Given the description of an element on the screen output the (x, y) to click on. 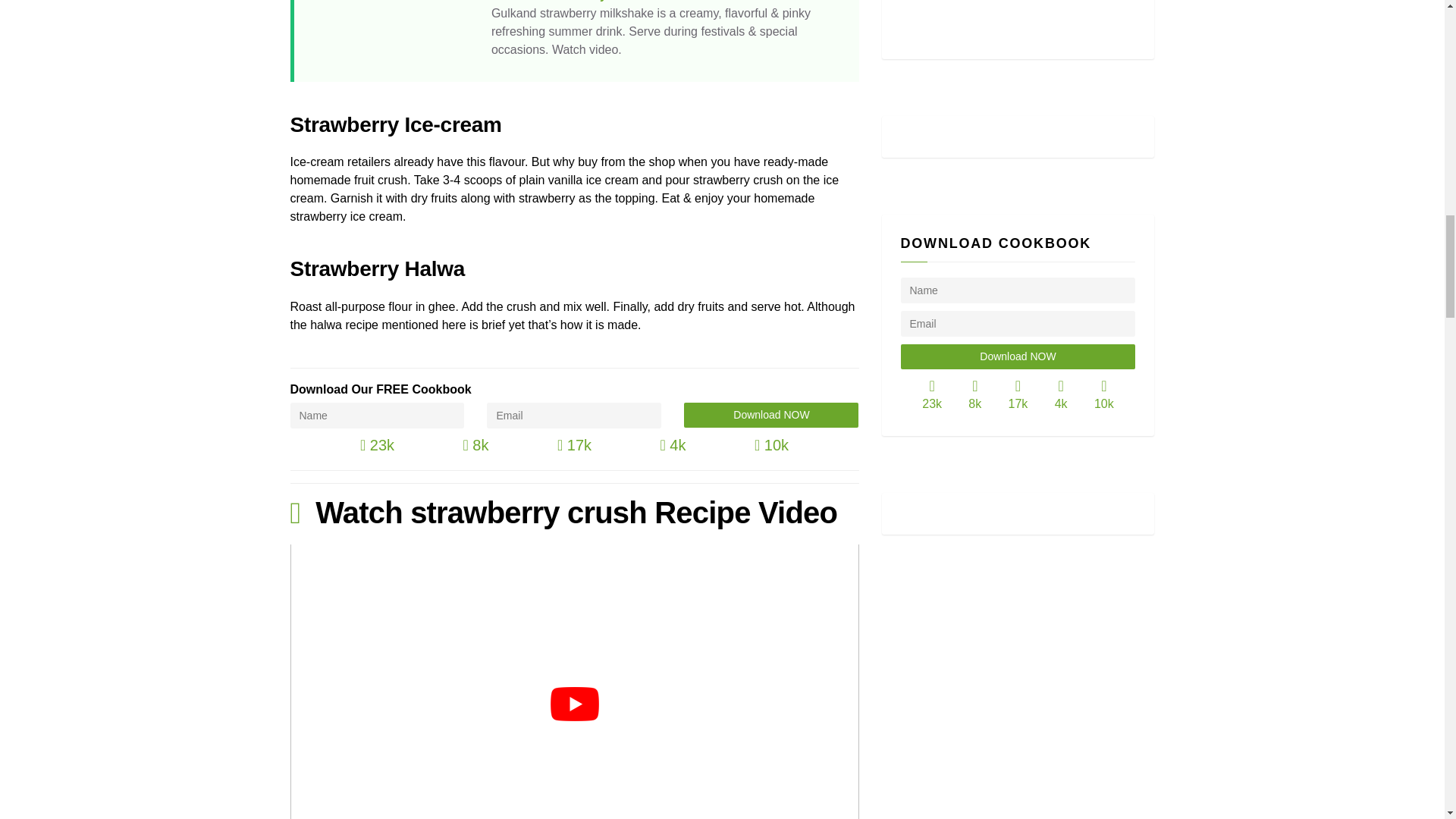
4k (672, 444)
23k (376, 444)
10k (771, 444)
8k (475, 444)
17k (574, 444)
Download NOW (771, 414)
Download NOW (1018, 356)
Download NOW (771, 414)
